Given the description of an element on the screen output the (x, y) to click on. 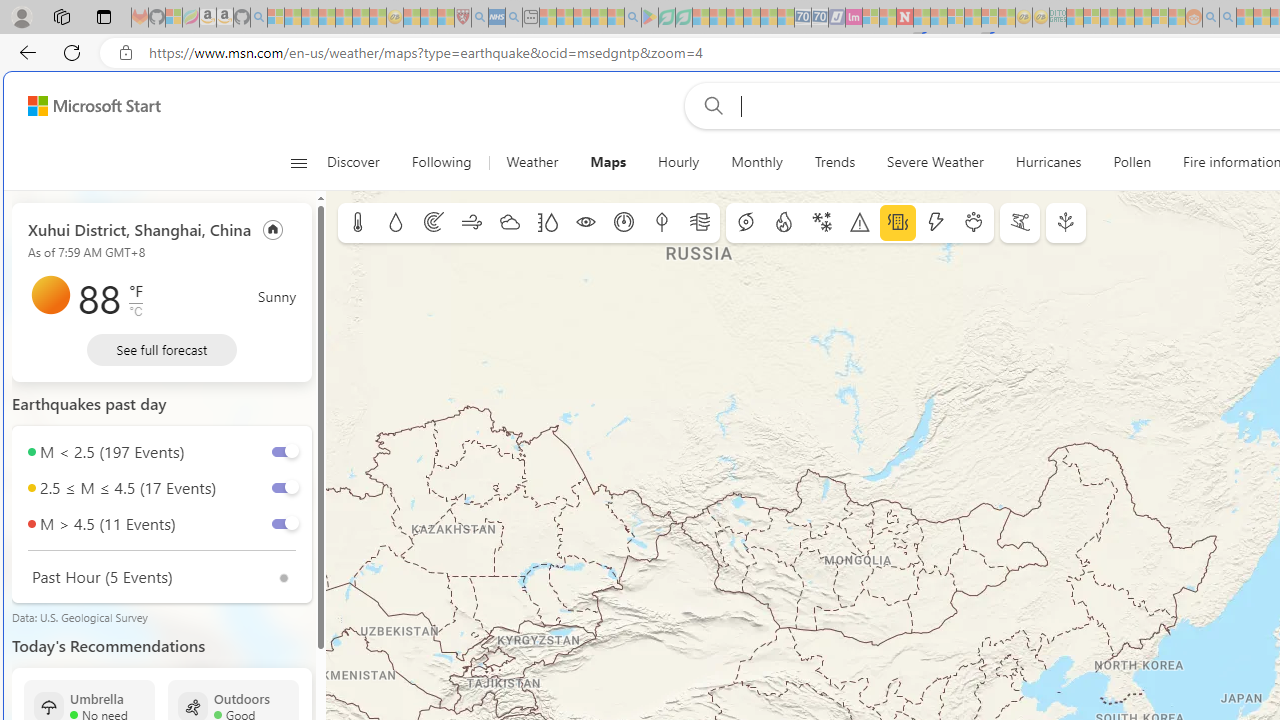
Weather (532, 162)
Dew point (661, 223)
Bluey: Let's Play! - Apps on Google Play - Sleeping (649, 17)
Hurricanes (1048, 162)
Recipes - MSN - Sleeping (411, 17)
Monthly (756, 162)
Latest Politics News & Archive | Newsweek.com - Sleeping (904, 17)
NCL Adult Asthma Inhaler Choice Guideline - Sleeping (497, 17)
Hourly (678, 162)
Robert H. Shmerling, MD - Harvard Health - Sleeping (462, 17)
Lightning (935, 223)
